Given the description of an element on the screen output the (x, y) to click on. 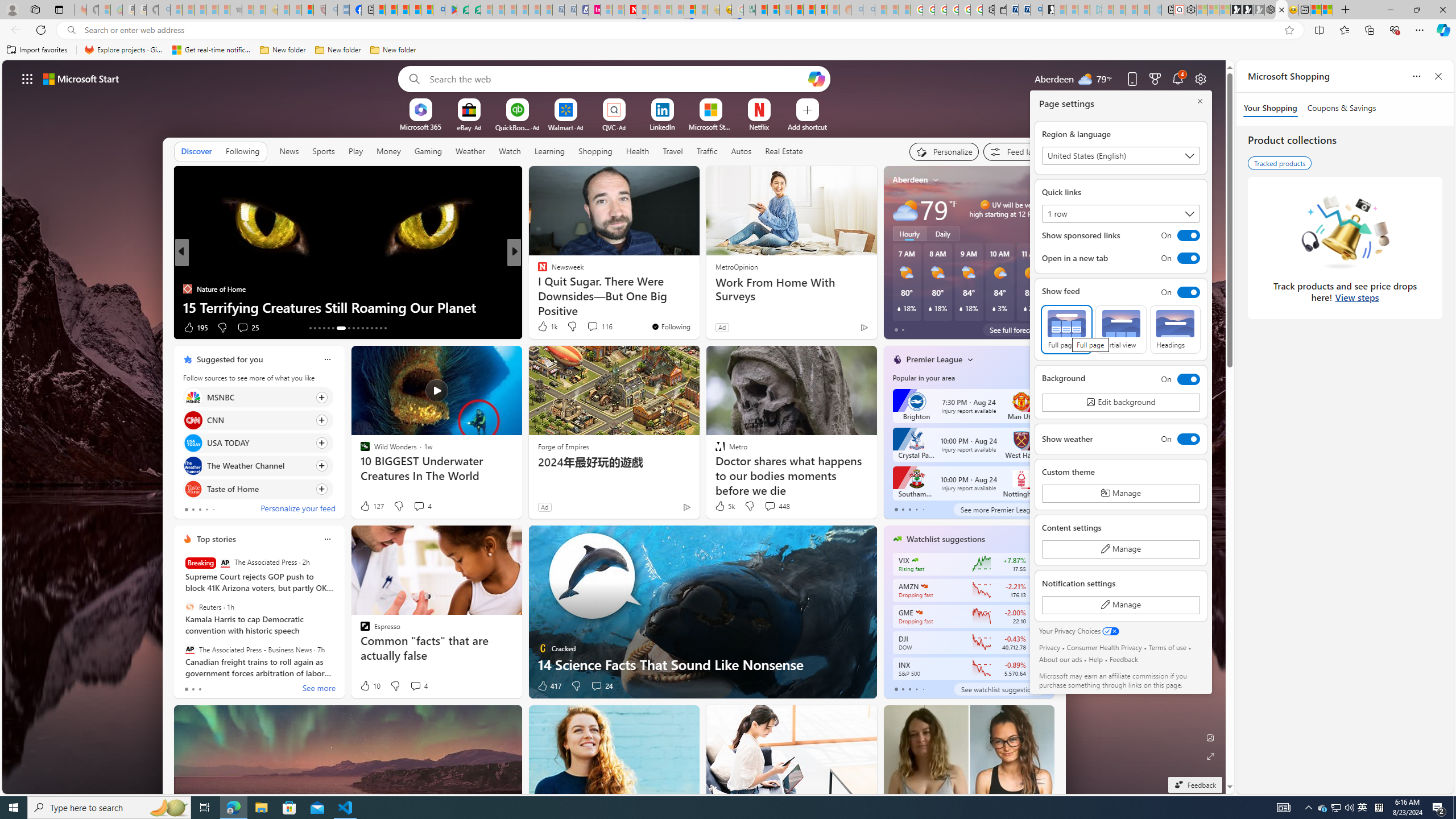
Trusted Community Engagement and Contributions | Guidelines (641, 9)
Show sponsored links On (1120, 235)
tab-1 (903, 689)
Home | Sky Blue Bikes - Sky Blue Bikes - Sleeping (1155, 9)
Health (637, 151)
Page settings (1200, 78)
View comments 18 Comment (597, 327)
Travel (672, 151)
View comments 4 Comment (418, 685)
Personalize your feed (297, 509)
Wildlife - MSN (1315, 9)
Class: icon-img (1037, 538)
